Given the description of an element on the screen output the (x, y) to click on. 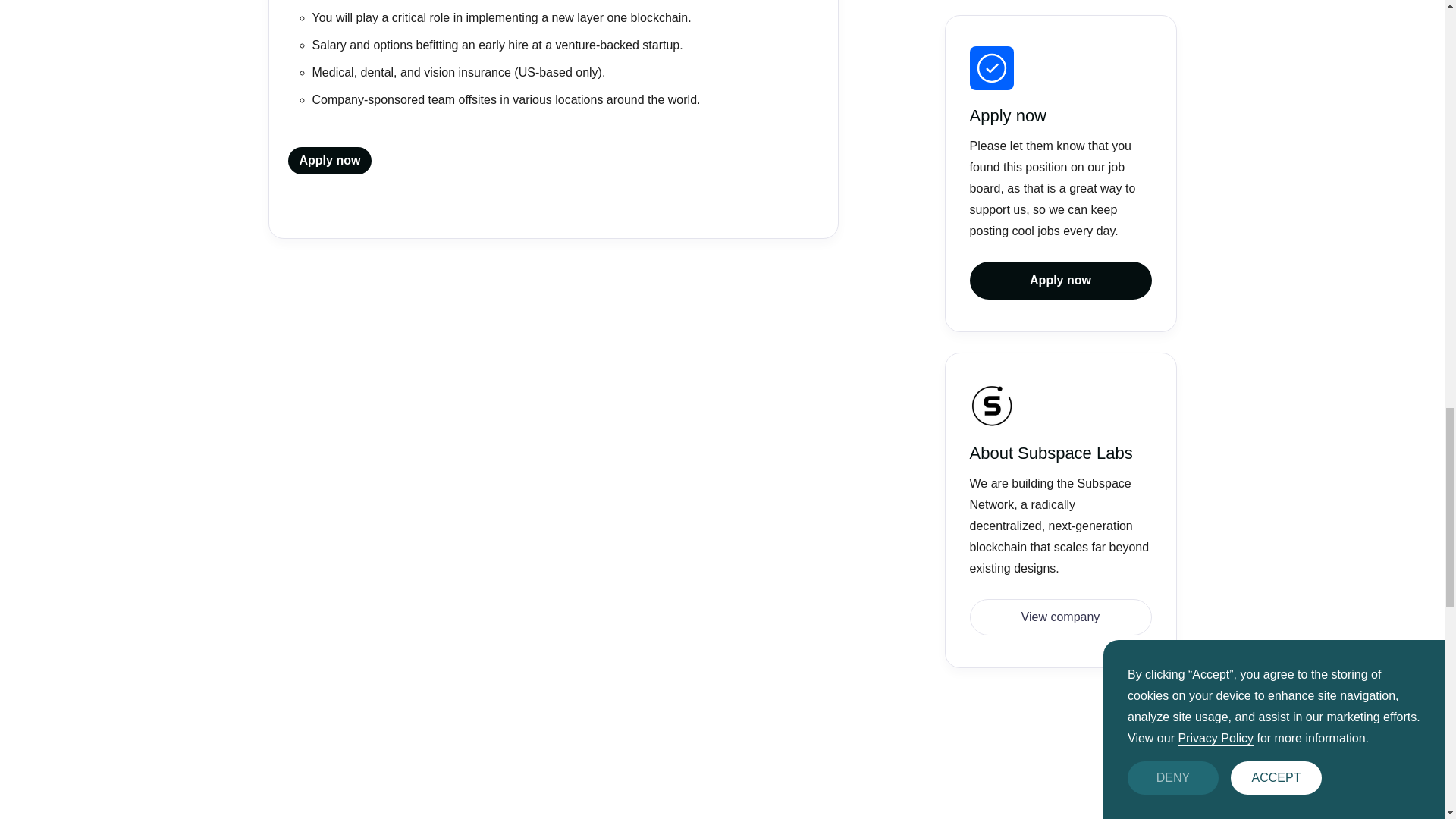
Apply now (330, 160)
